Given the description of an element on the screen output the (x, y) to click on. 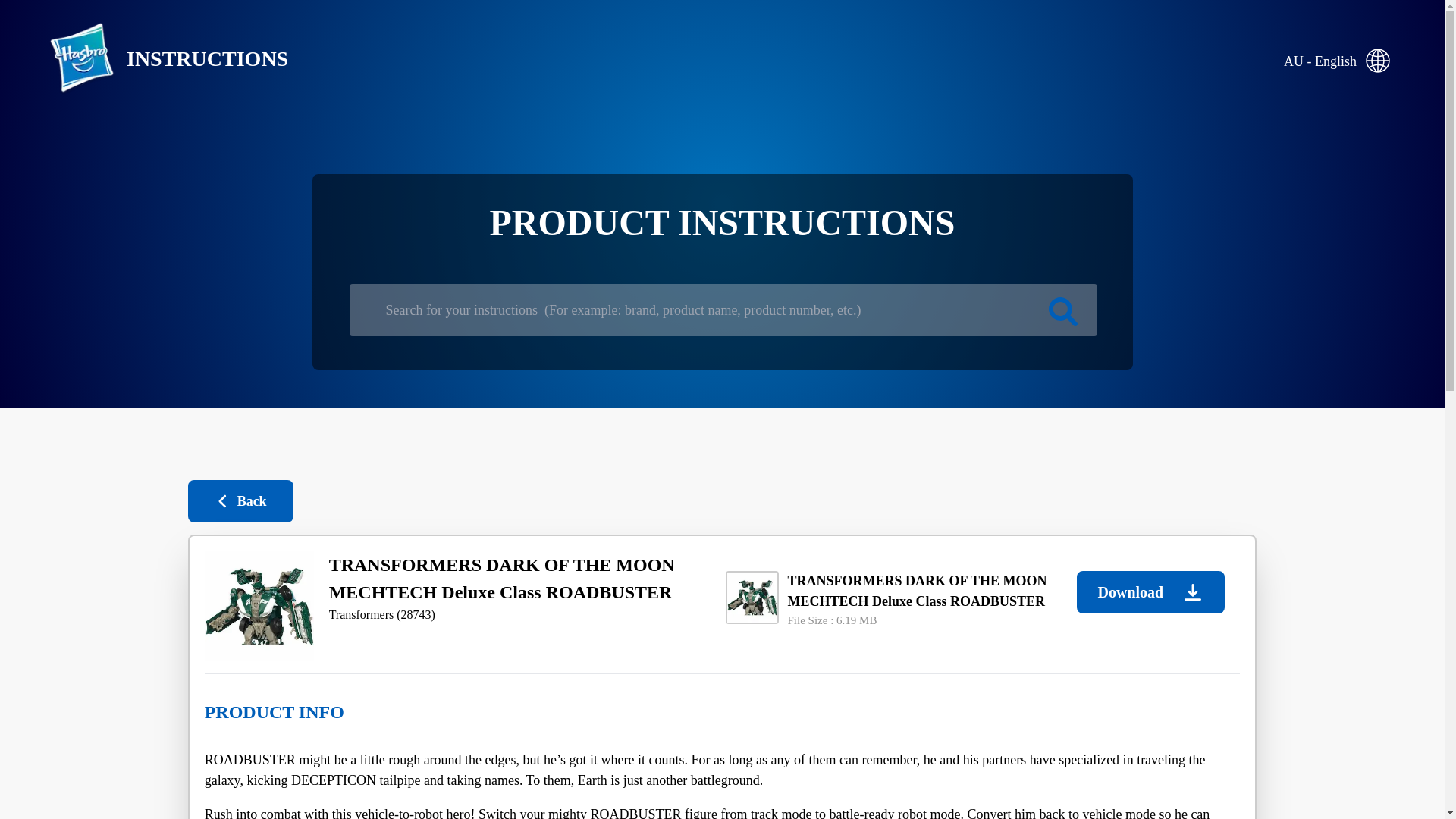
Back (240, 500)
Download (1150, 591)
INSTRUCTIONS (156, 59)
